Given the description of an element on the screen output the (x, y) to click on. 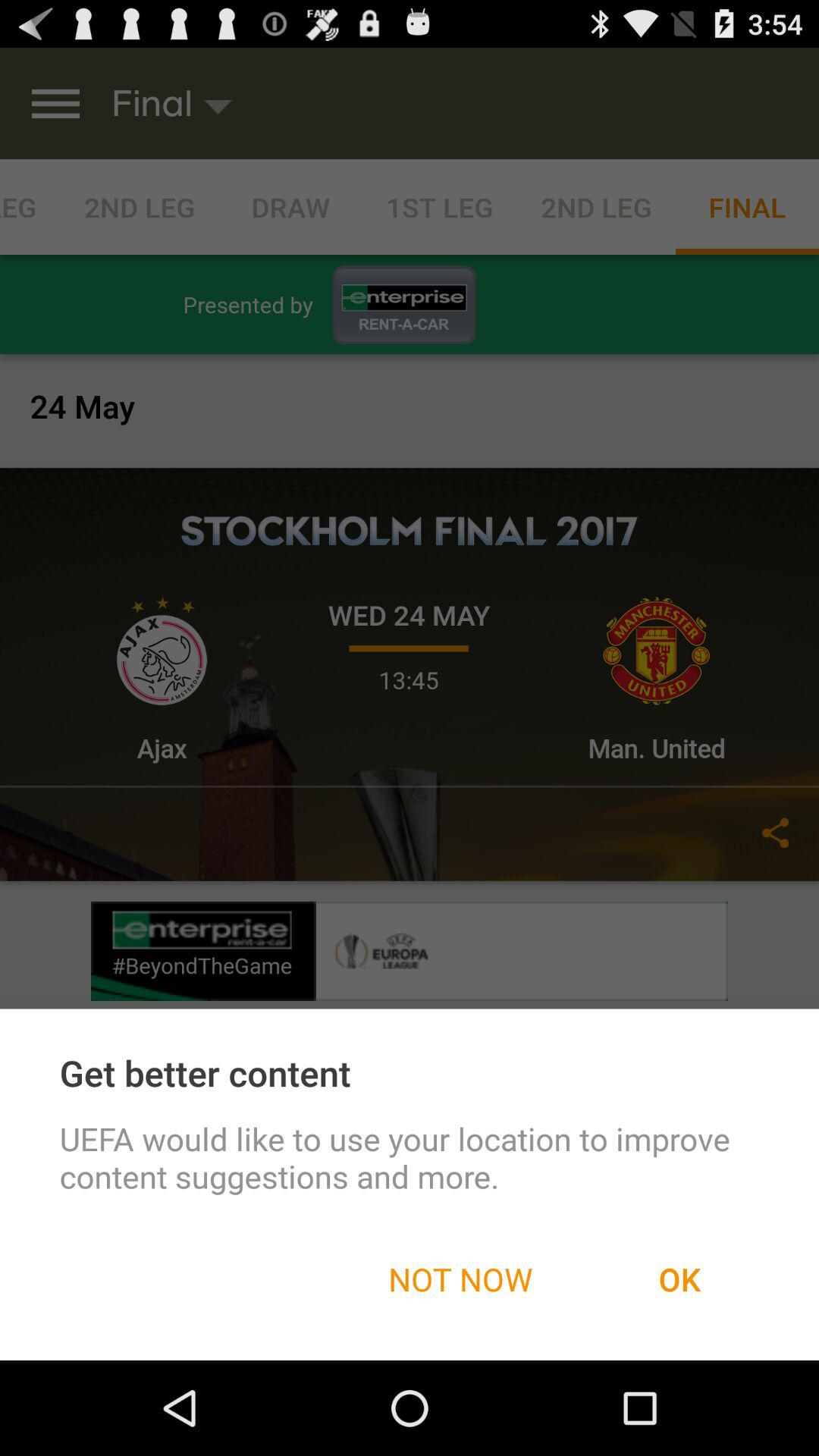
turn on the icon next to the not now item (679, 1278)
